Given the description of an element on the screen output the (x, y) to click on. 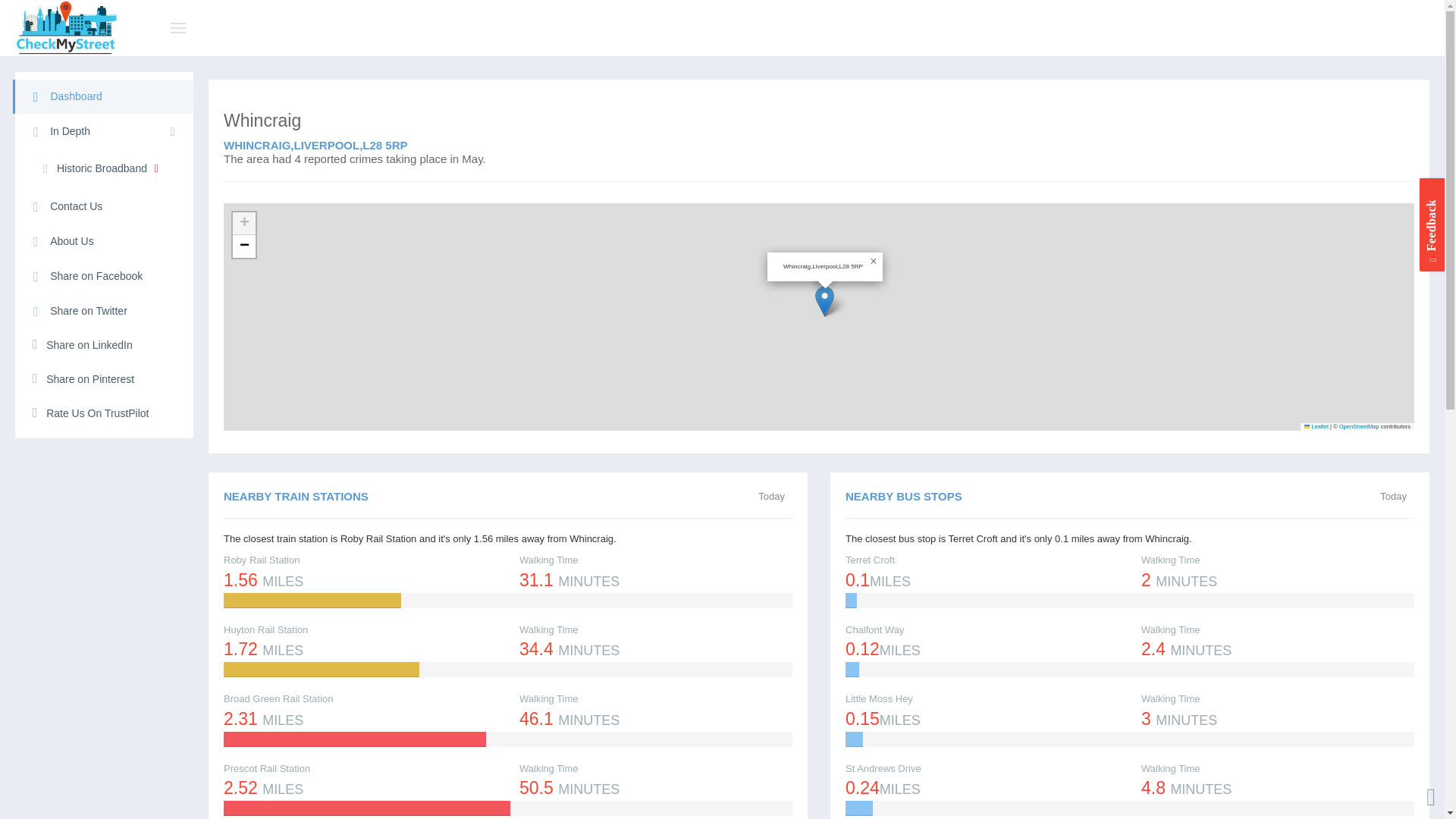
on (1385, 497)
on (763, 497)
About Us (103, 241)
OpenStreetMap (1358, 426)
Share on Pinterest (103, 379)
In Depth (103, 131)
Contact Us (103, 206)
A JavaScript library for interactive maps (1315, 426)
Share on Twitter (103, 311)
Leaflet (1315, 426)
Zoom in (244, 223)
Share on LinkedIn (103, 345)
on (1411, 108)
Dashboard (103, 96)
Rate Us On TrustPilot (103, 413)
